Given the description of an element on the screen output the (x, y) to click on. 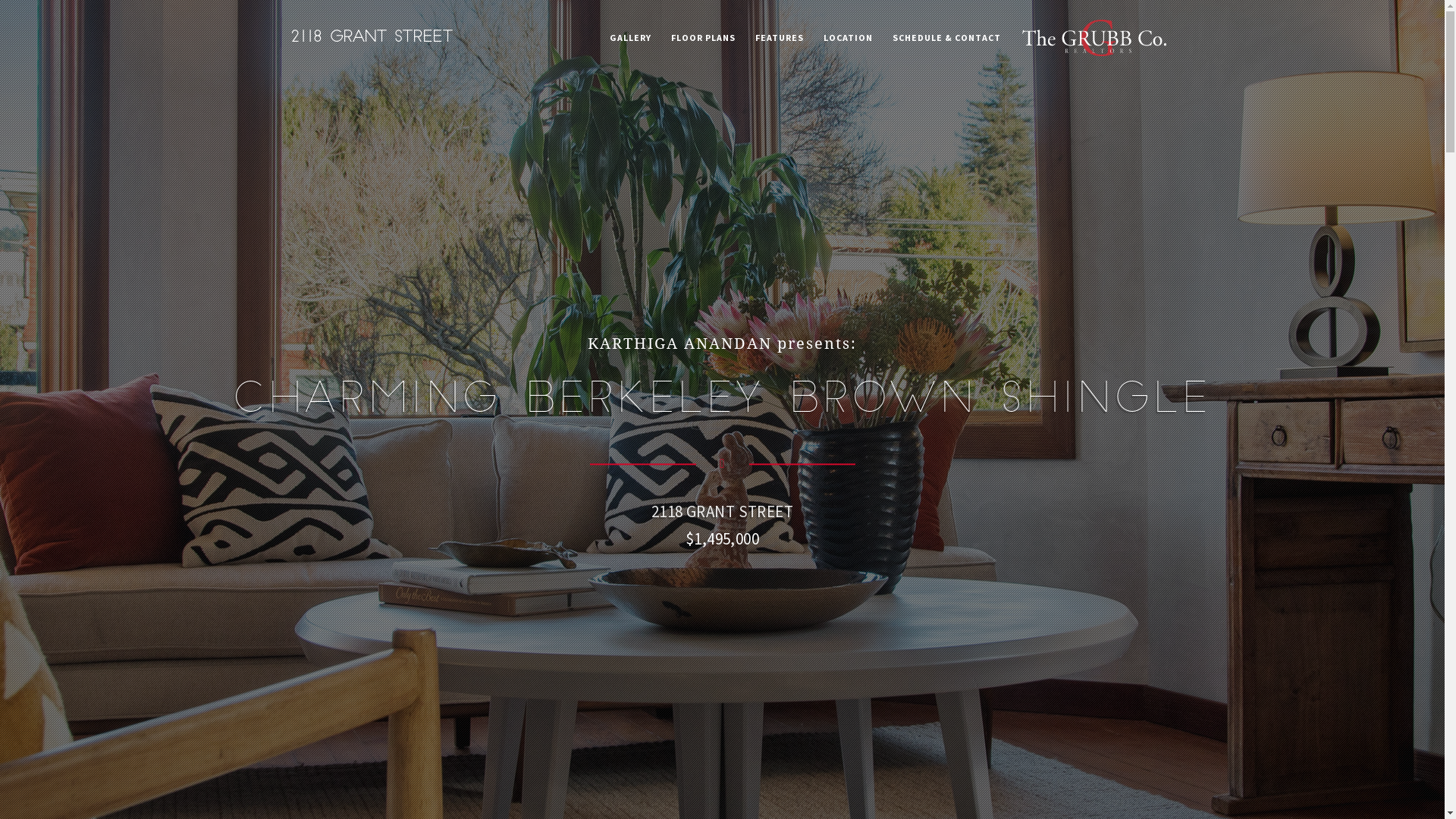
2118 Grant Street Element type: text (371, 34)
SCHEDULE & CONTACT Element type: text (945, 37)
FLOOR PLANS Element type: text (702, 37)
2118 GRANT STREET Element type: text (722, 511)
LOCATION Element type: text (847, 37)
FEATURES Element type: text (779, 37)
GALLERY Element type: text (630, 37)
